Given the description of an element on the screen output the (x, y) to click on. 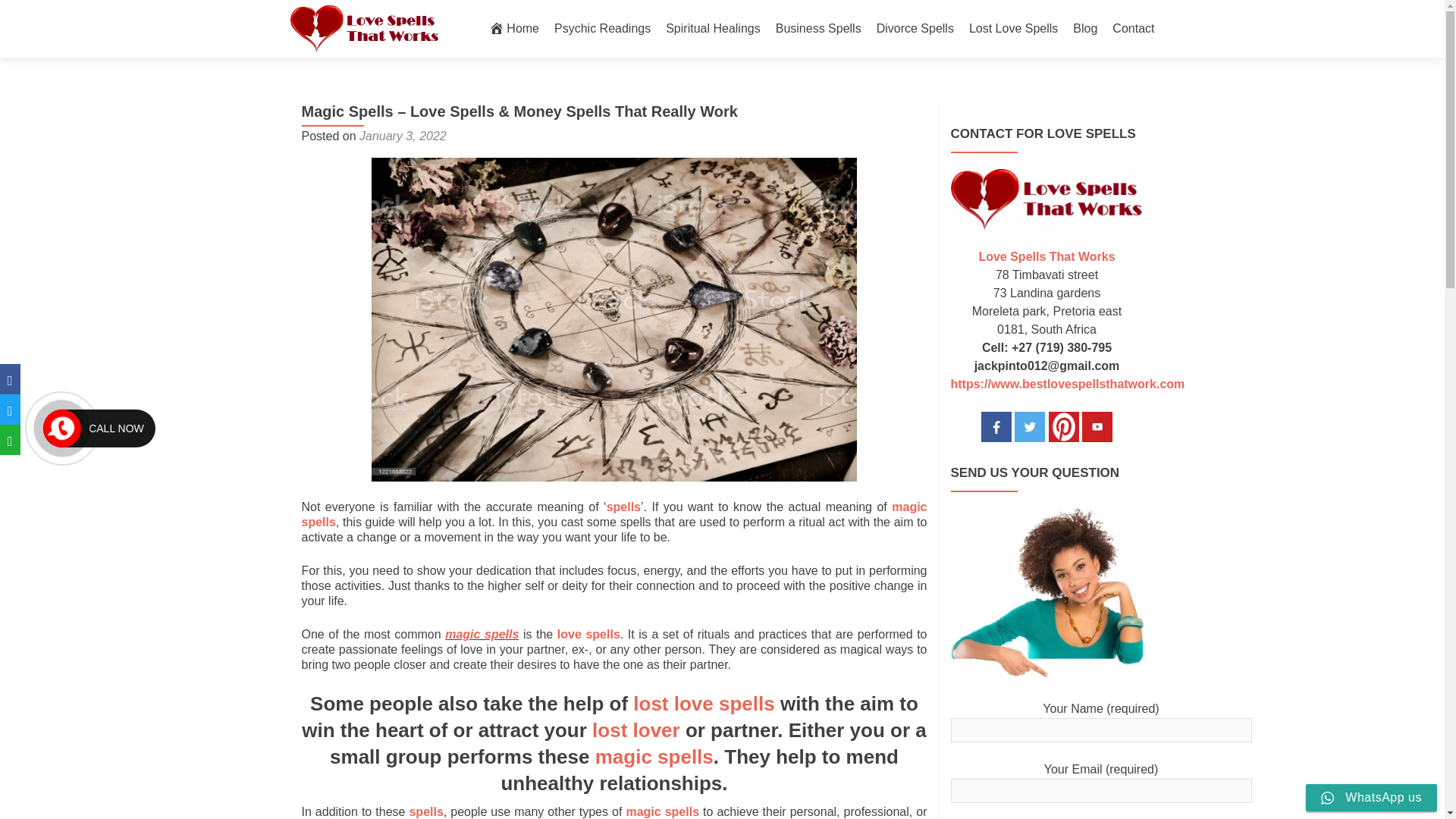
Lost Love Spells (1013, 28)
spells (425, 811)
Love Spells that work Fast (1046, 199)
Psychic Readings (602, 28)
lost love spells (703, 703)
Home (513, 28)
lost lover (635, 730)
Business Spells (818, 28)
Lost Love Spells (1046, 206)
Pinterest Love Spells (1063, 425)
magic spells (614, 514)
Spiritual Healings (712, 28)
love spells (588, 634)
Youtube Love Spells Caster (1096, 425)
spells (623, 506)
